Given the description of an element on the screen output the (x, y) to click on. 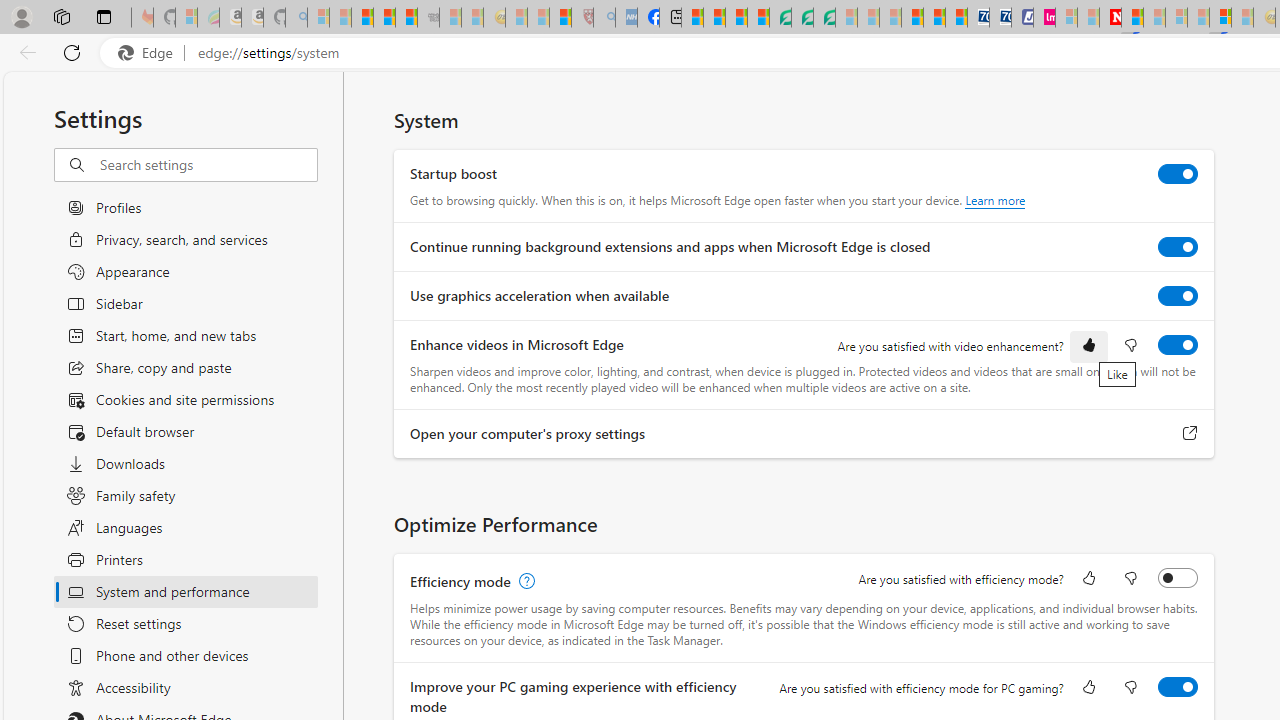
Search settings (207, 165)
